Given the description of an element on the screen output the (x, y) to click on. 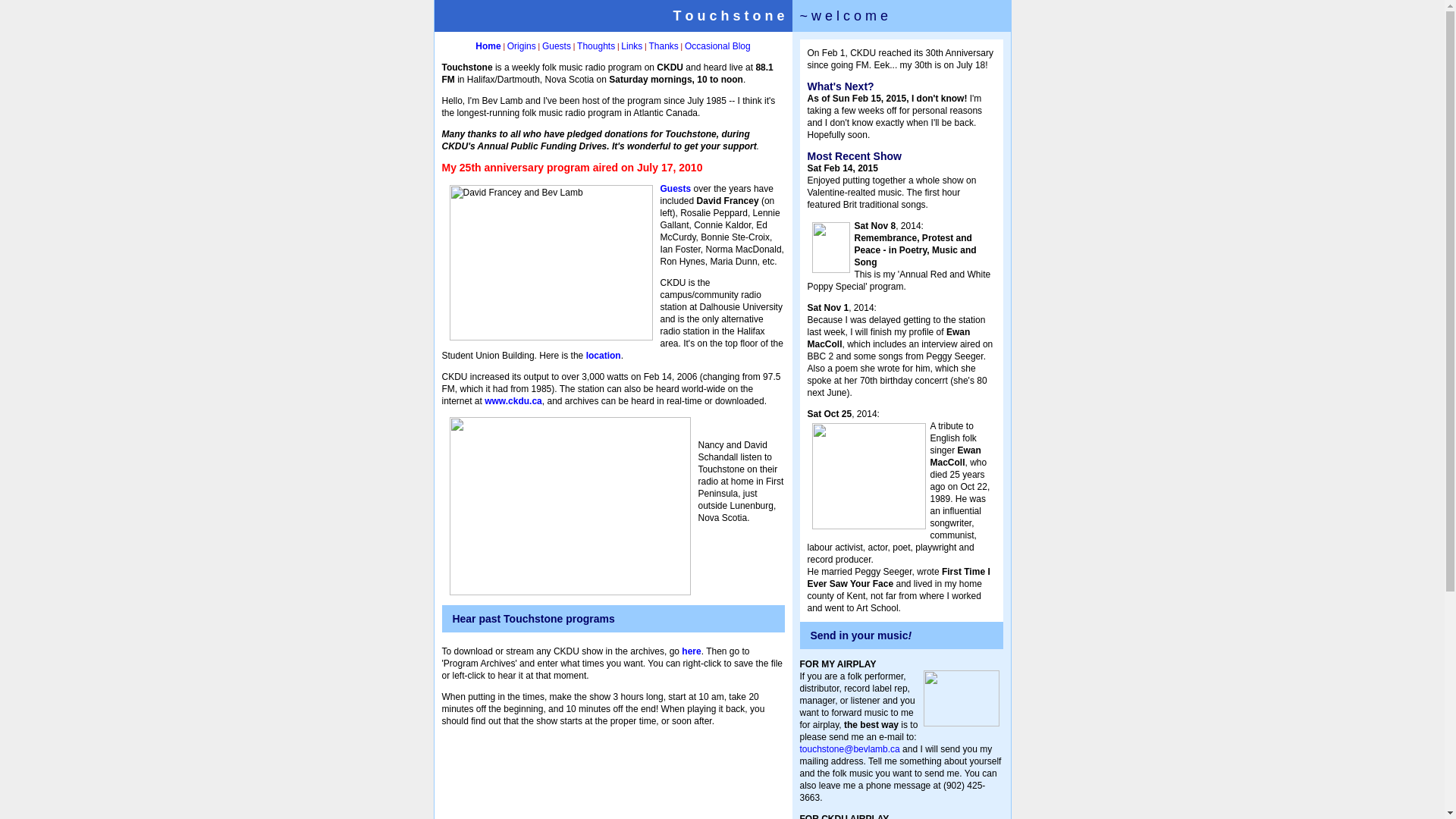
Guests Element type: text (674, 188)
Origins Element type: text (521, 45)
touchstone@bevlamb.ca Element type: text (849, 748)
Links Element type: text (631, 45)
Thoughts Element type: text (596, 45)
www.ckdu.ca Element type: text (513, 400)
Guests Element type: text (556, 45)
here Element type: text (690, 651)
location Element type: text (603, 355)
Home Element type: text (487, 45)
Thanks Element type: text (662, 45)
Occasional Blog Element type: text (717, 45)
